Given the description of an element on the screen output the (x, y) to click on. 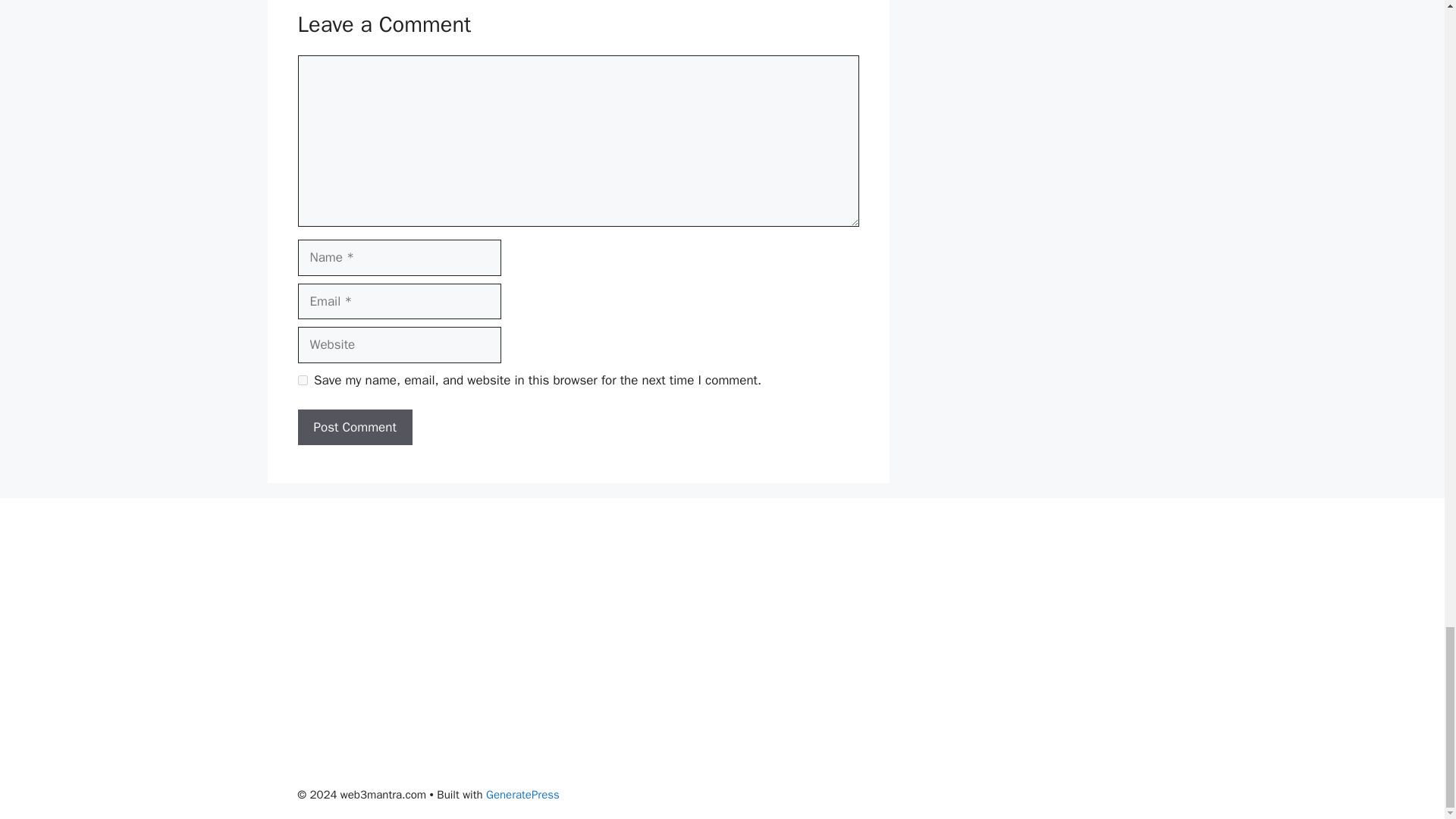
yes (302, 379)
Post Comment (354, 427)
Post Comment (354, 427)
GeneratePress (522, 794)
